Given the description of an element on the screen output the (x, y) to click on. 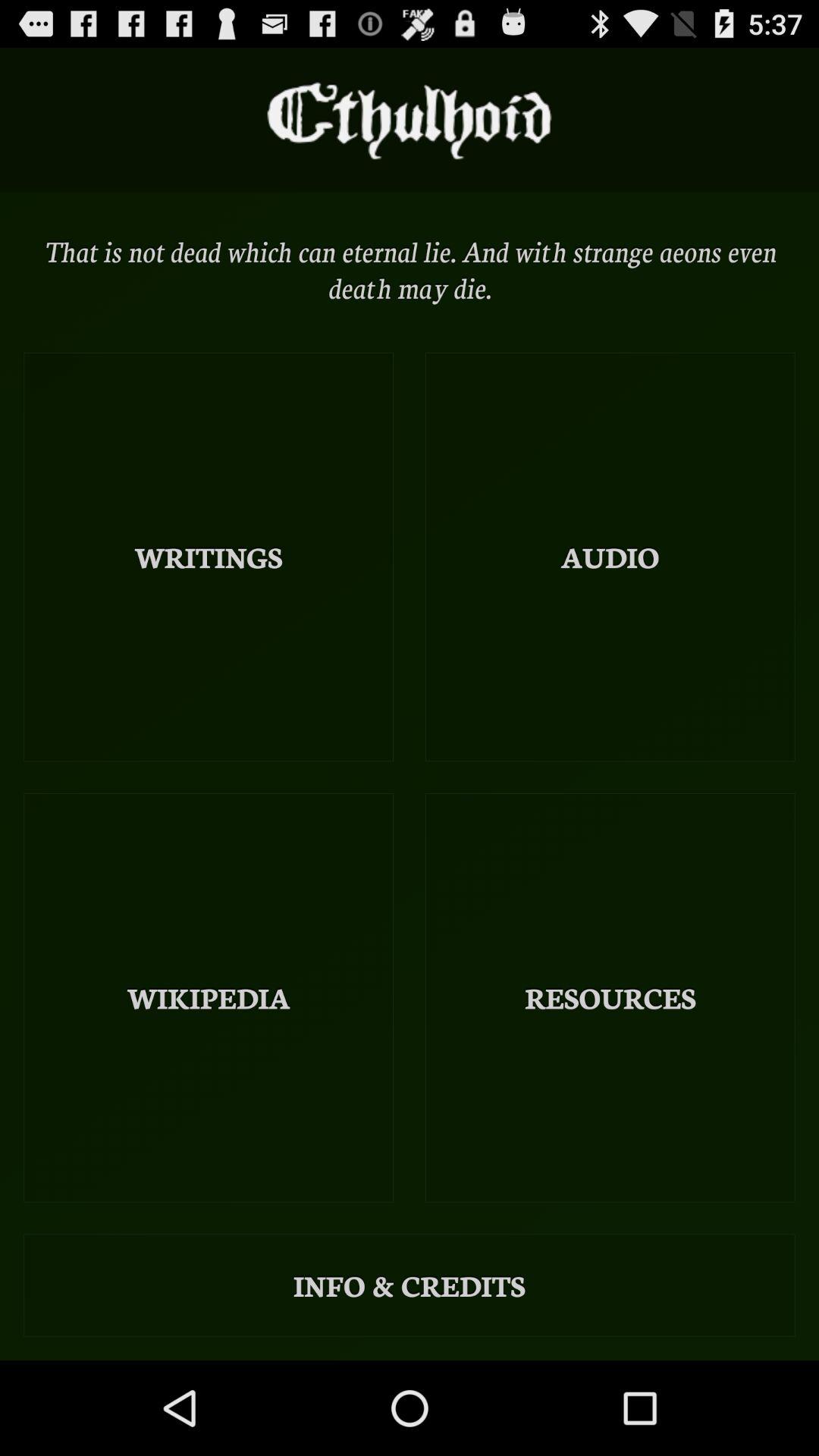
turn off the item above the info & credits icon (208, 997)
